Given the description of an element on the screen output the (x, y) to click on. 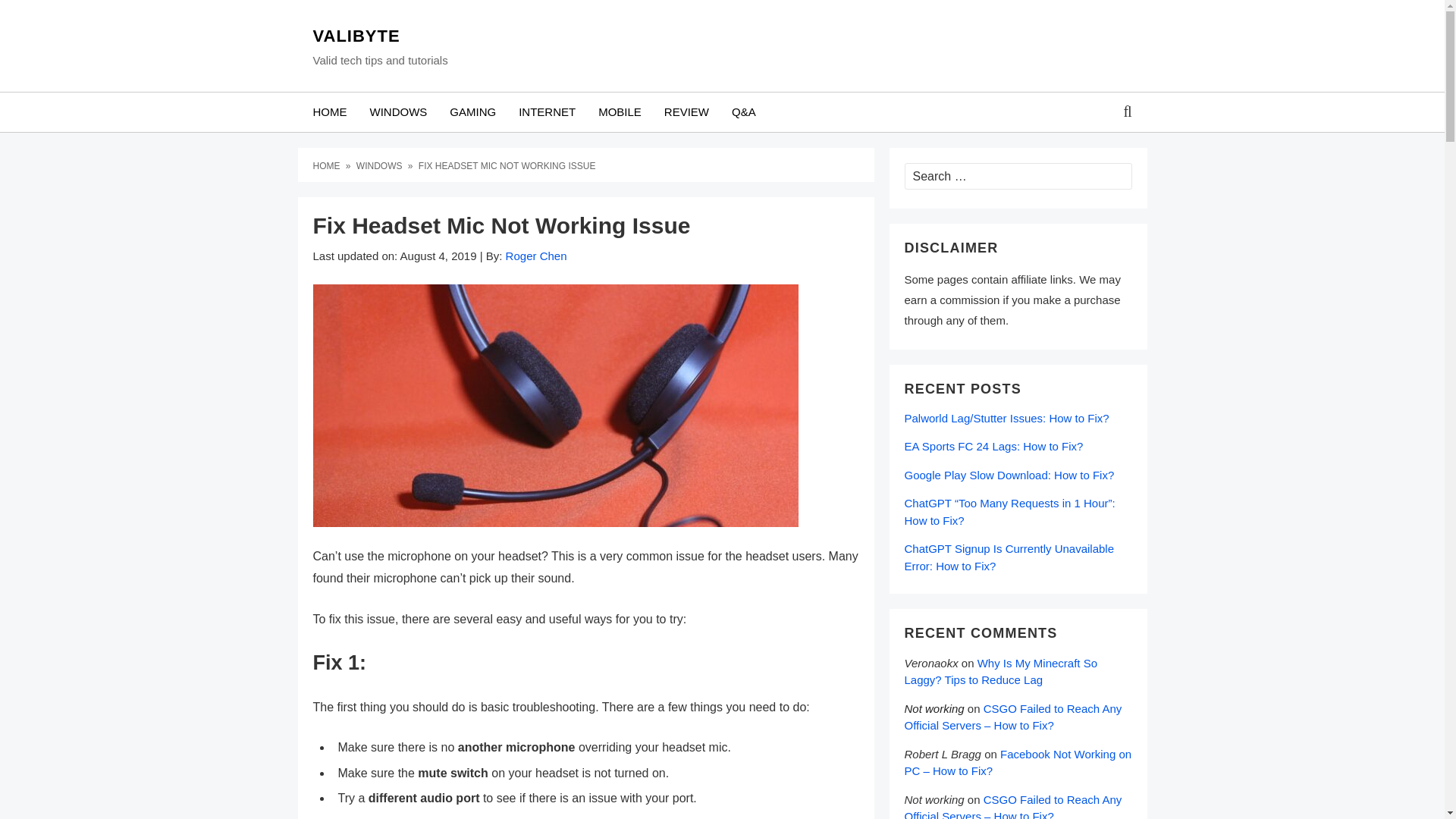
EA Sports FC 24 Lags: How to Fix? (993, 445)
Roger Chen (536, 255)
VALIBYTE (379, 35)
MOBILE (619, 111)
WINDOWS (398, 111)
GAMING (472, 111)
Google Play Slow Download: How to Fix? (1008, 474)
HOME (327, 165)
REVIEW (686, 111)
WINDOWS (381, 165)
Home (327, 165)
HOME (329, 111)
